Given the description of an element on the screen output the (x, y) to click on. 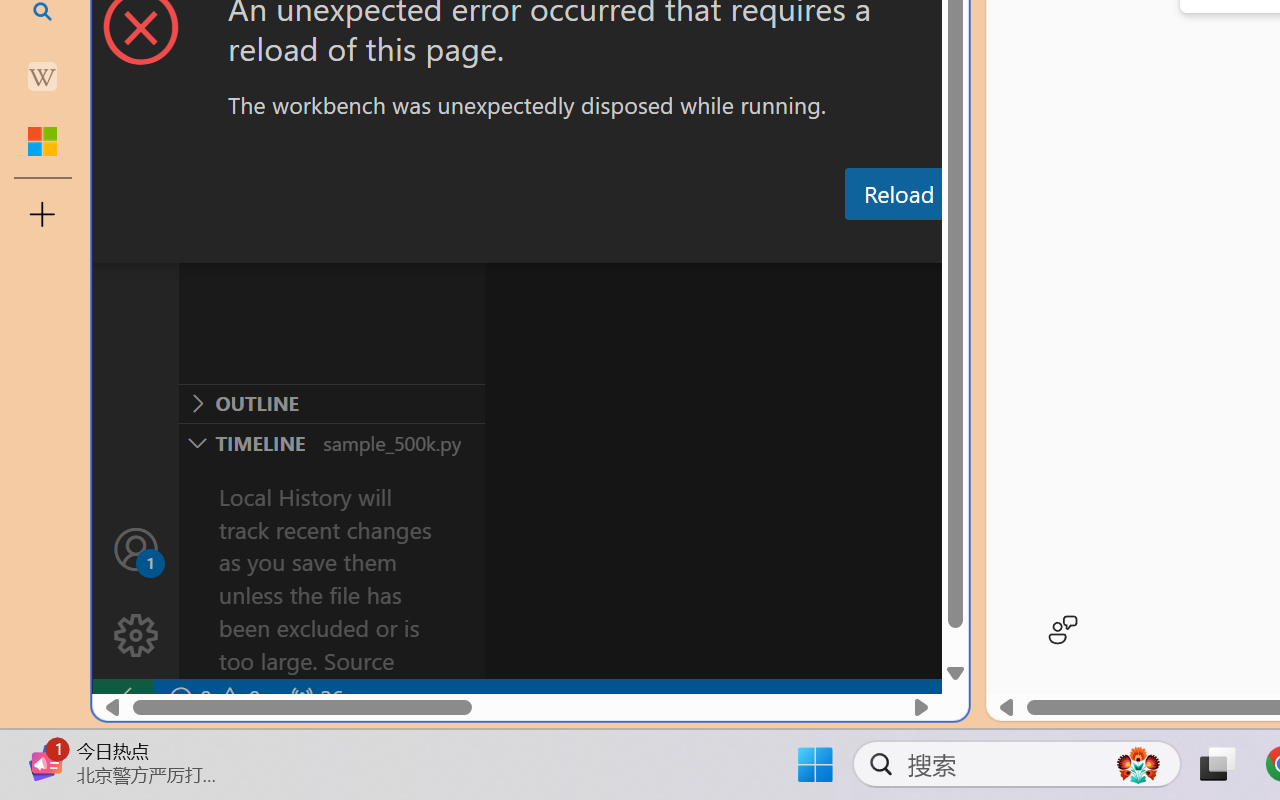
Problems (Ctrl+Shift+M) (567, 243)
No Problems (212, 698)
Reload (898, 193)
Debug Console (Ctrl+Shift+Y) (854, 243)
